Given the description of an element on the screen output the (x, y) to click on. 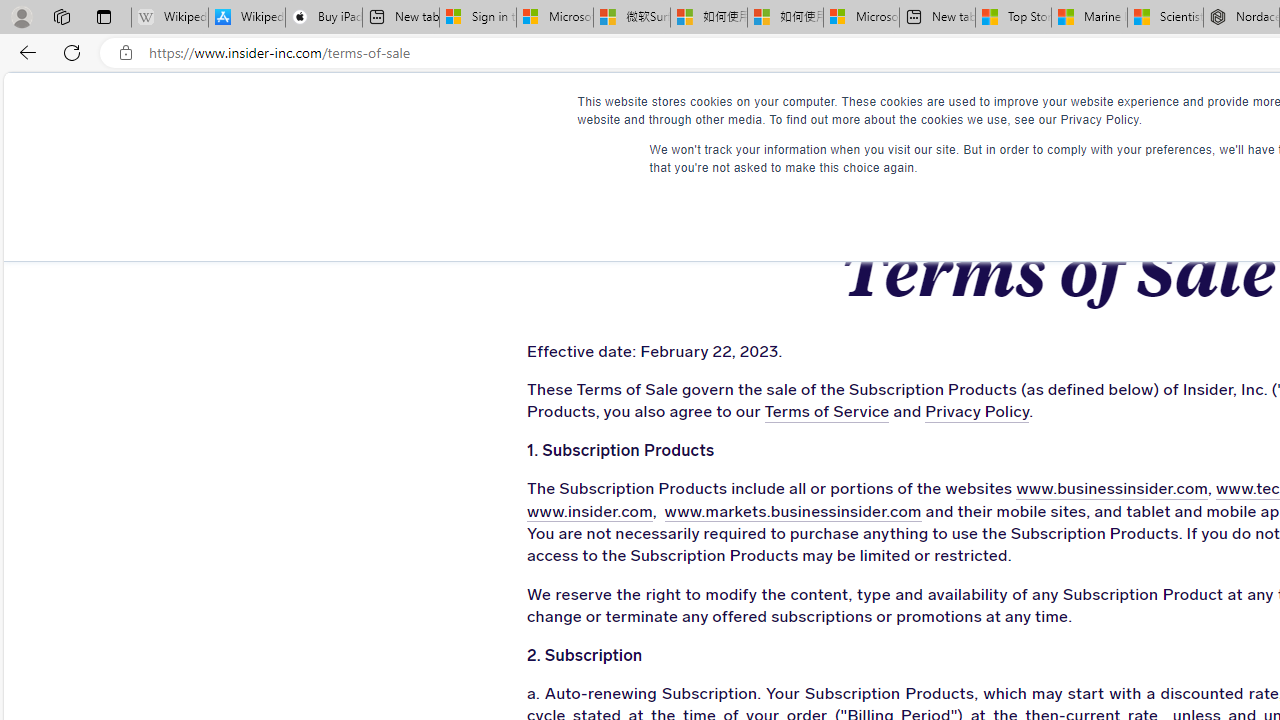
WHAT WE DO (458, 110)
Privacy Policy (977, 412)
Marine life - MSN (1089, 17)
Terms of Service (826, 412)
www.markets.businessinsider.com (792, 511)
Buy iPad - Apple (323, 17)
